Given the description of an element on the screen output the (x, y) to click on. 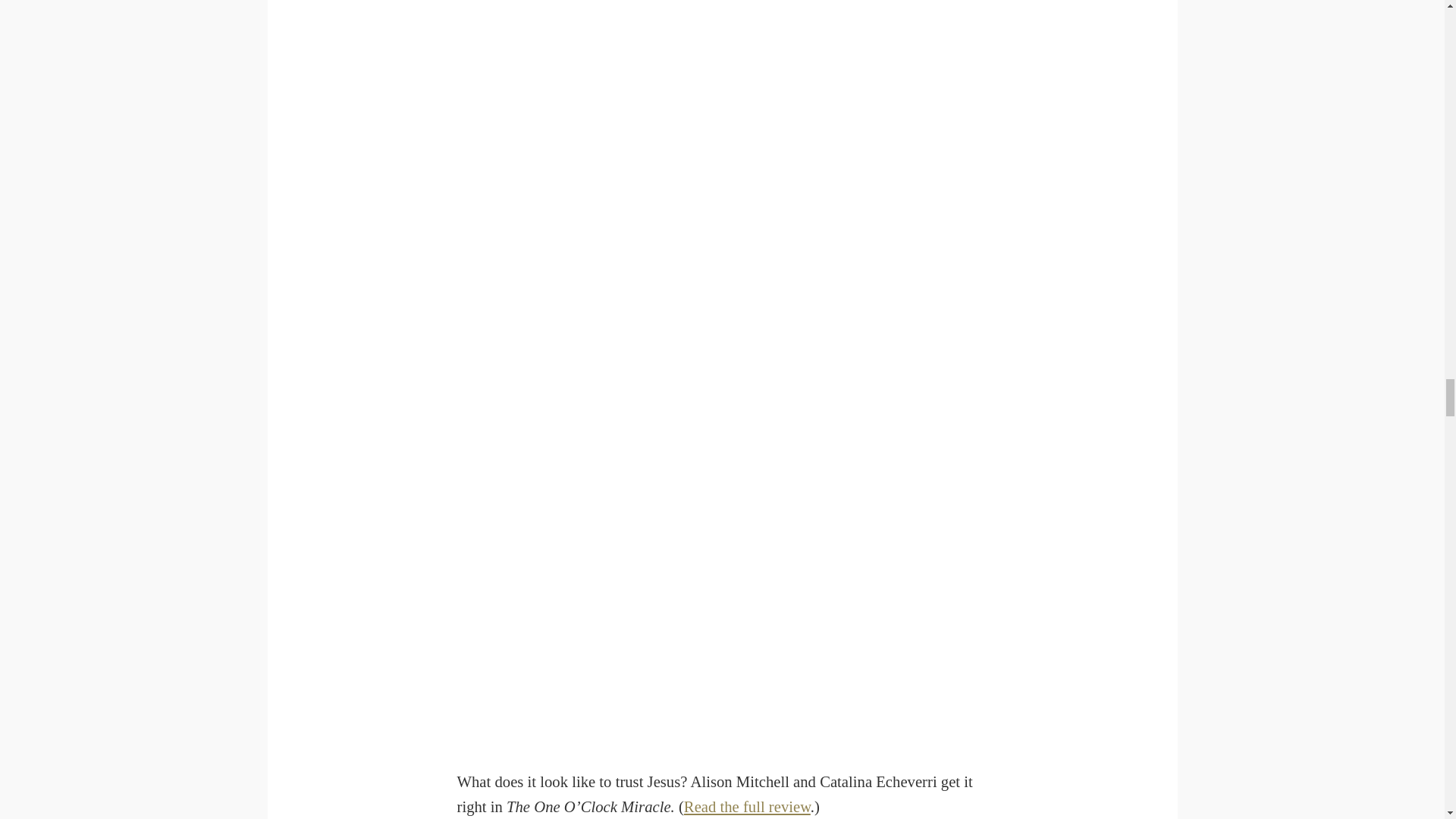
Read the full review (747, 806)
